Given the description of an element on the screen output the (x, y) to click on. 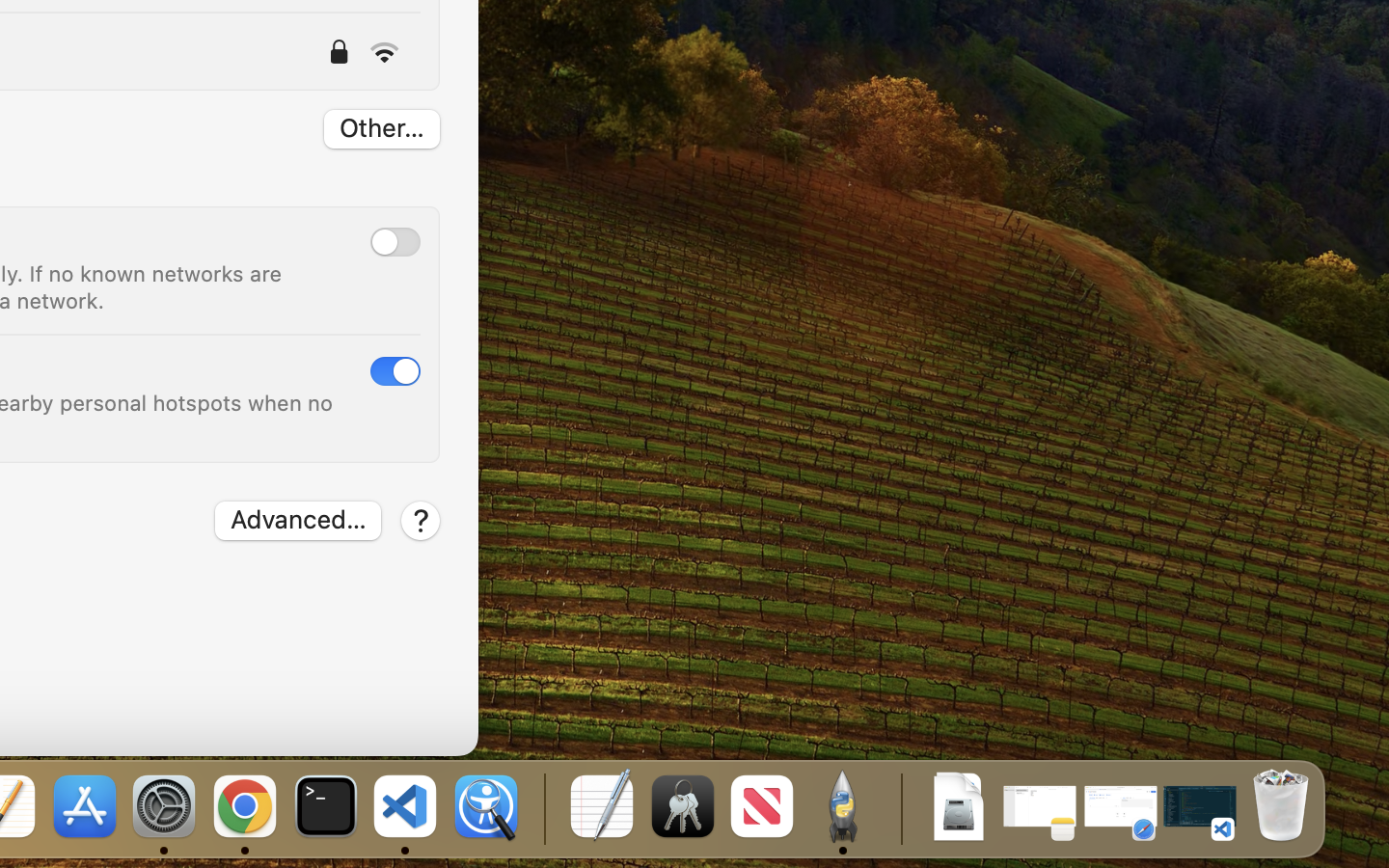
0.4285714328289032 Element type: AXDockItem (541, 807)
1 Element type: AXCheckBox (395, 370)
